Given the description of an element on the screen output the (x, y) to click on. 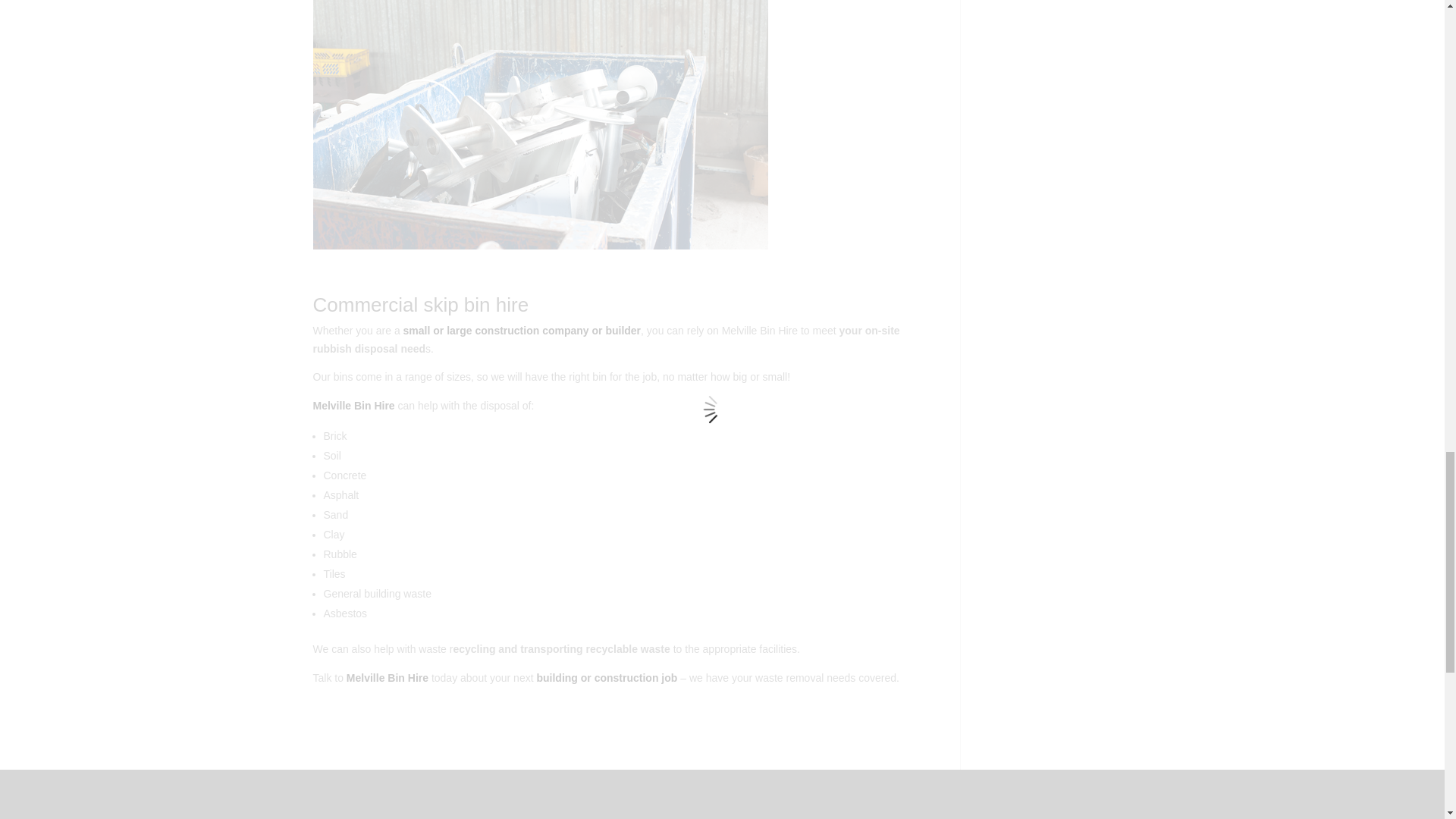
Melville Bin Hire (387, 677)
small or large construction company or builder (522, 330)
Melville Bin Hire (353, 405)
building or construction job (606, 677)
